Given the description of an element on the screen output the (x, y) to click on. 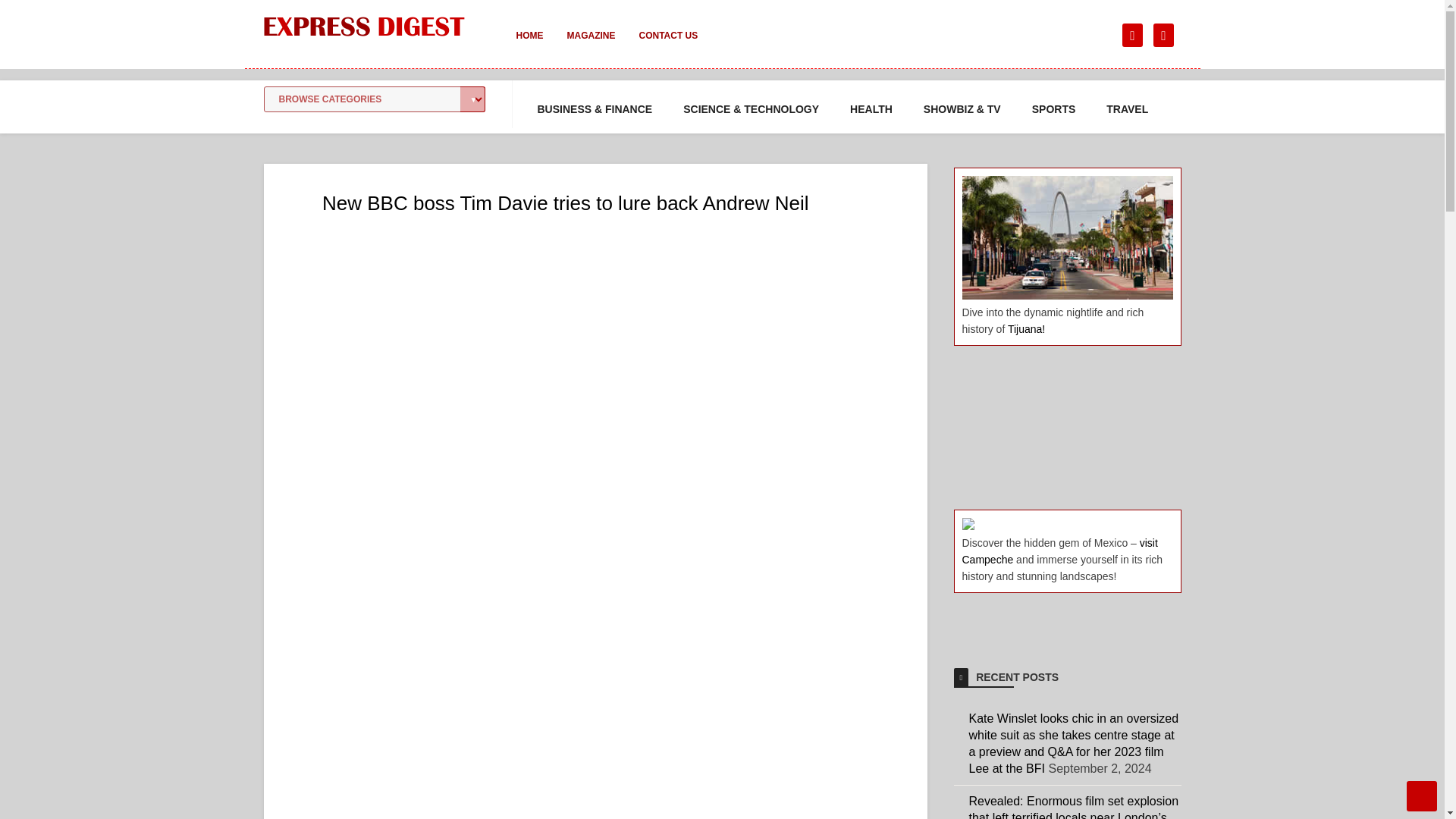
Tijuana! (1026, 328)
HEALTH (871, 109)
SPORTS (1053, 109)
MAGAZINE (590, 45)
visit Campeche (1058, 551)
TRAVEL (1127, 109)
CONTACT US (667, 45)
